Given the description of an element on the screen output the (x, y) to click on. 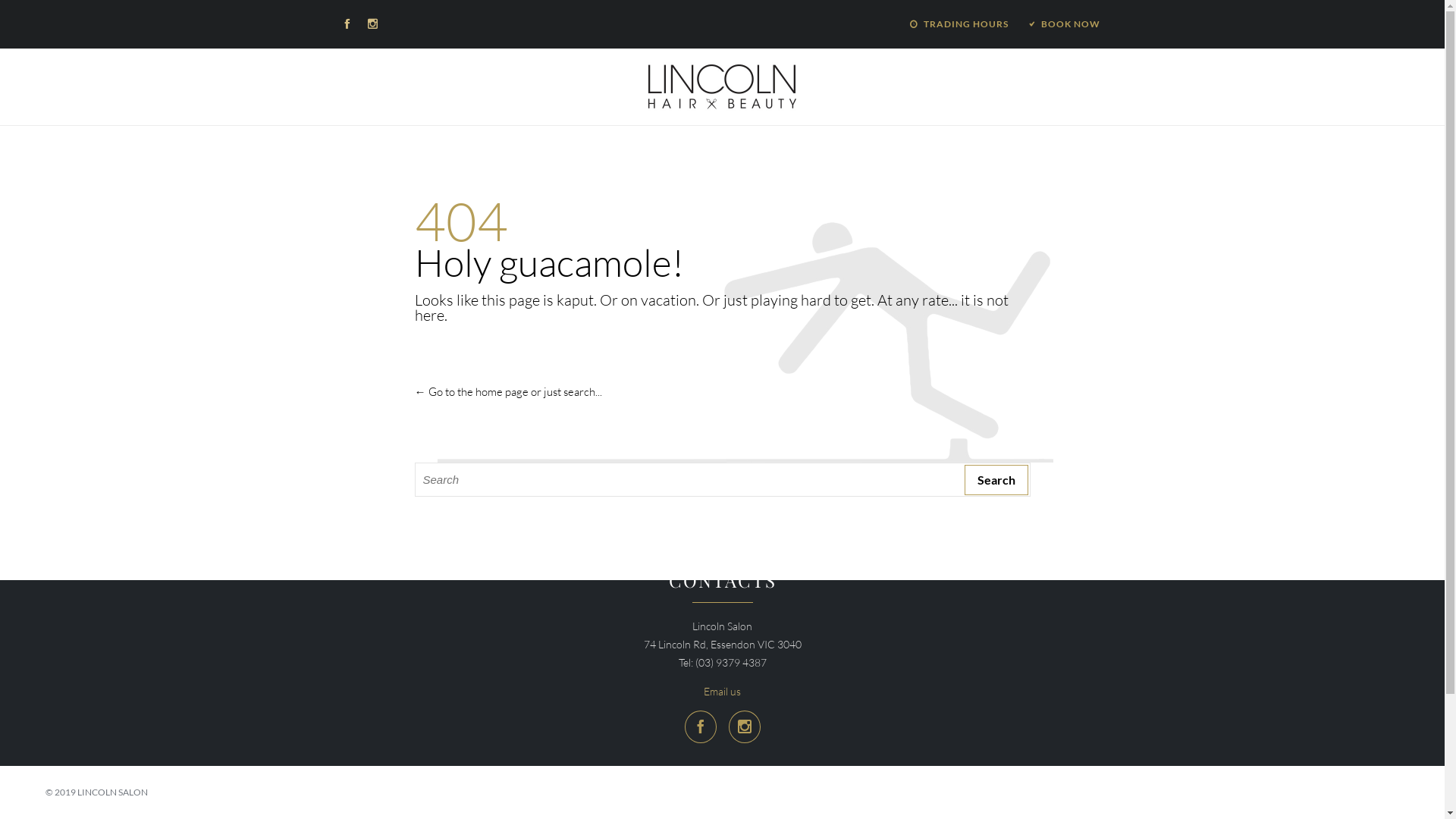
Skip to content Element type: text (721, 147)
TRADING HOURS Element type: text (957, 24)
Search Element type: text (996, 479)
BOOK NOW Element type: text (1063, 24)
Lincoln Salon Element type: hover (722, 86)
Email us Element type: text (721, 690)
